Given the description of an element on the screen output the (x, y) to click on. 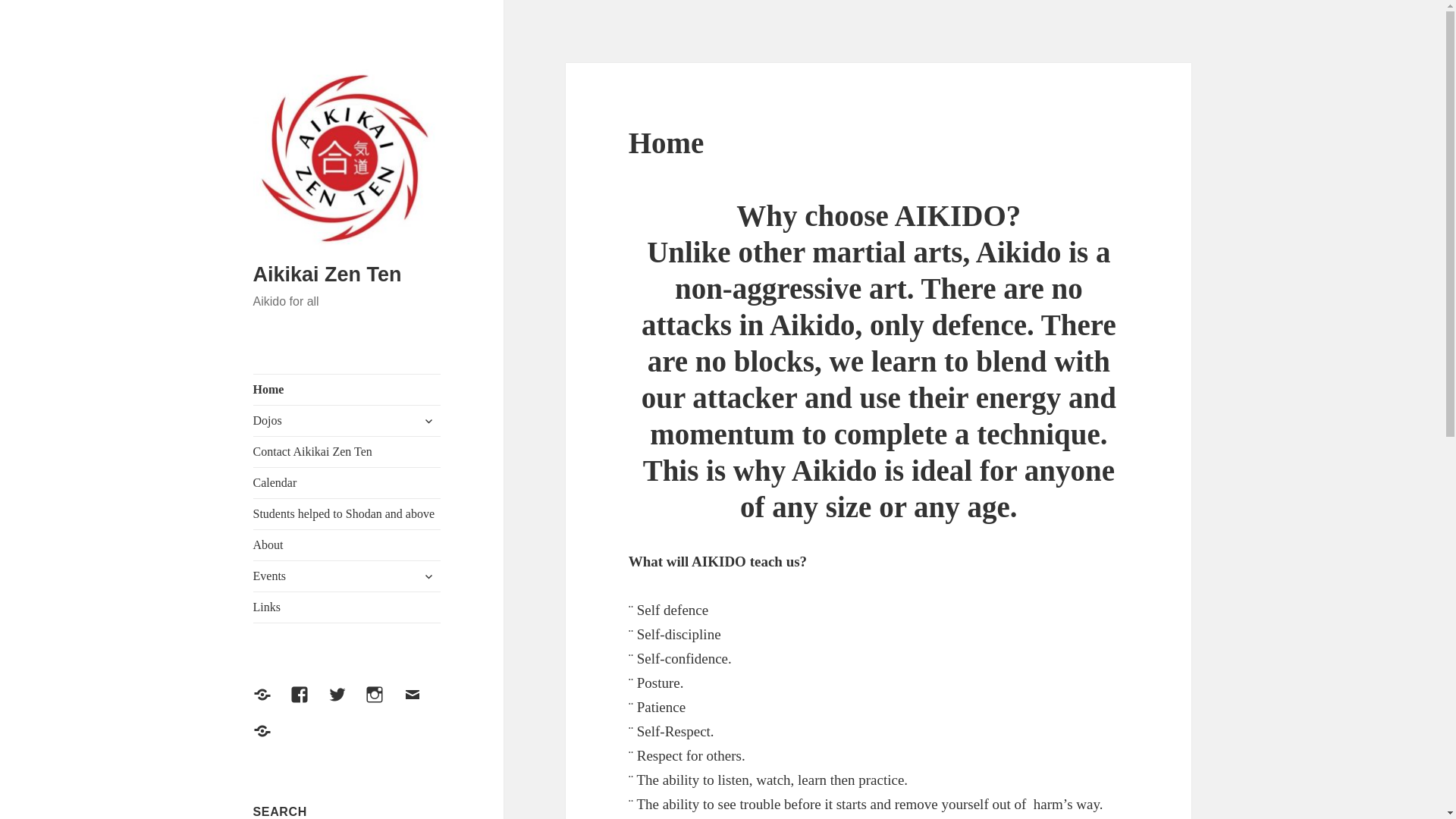
Facebook (307, 703)
Students helped to Shodan and above (347, 513)
Instagram (383, 703)
Links (347, 607)
Events (347, 576)
expand child menu (428, 576)
Aikikai Zen Ten (327, 273)
Calendar (347, 482)
Dojos (347, 420)
Email (421, 703)
Home (347, 389)
Contact Aikikai Zen Ten (347, 451)
expand child menu (428, 420)
About (347, 544)
Items for Sale (271, 739)
